Given the description of an element on the screen output the (x, y) to click on. 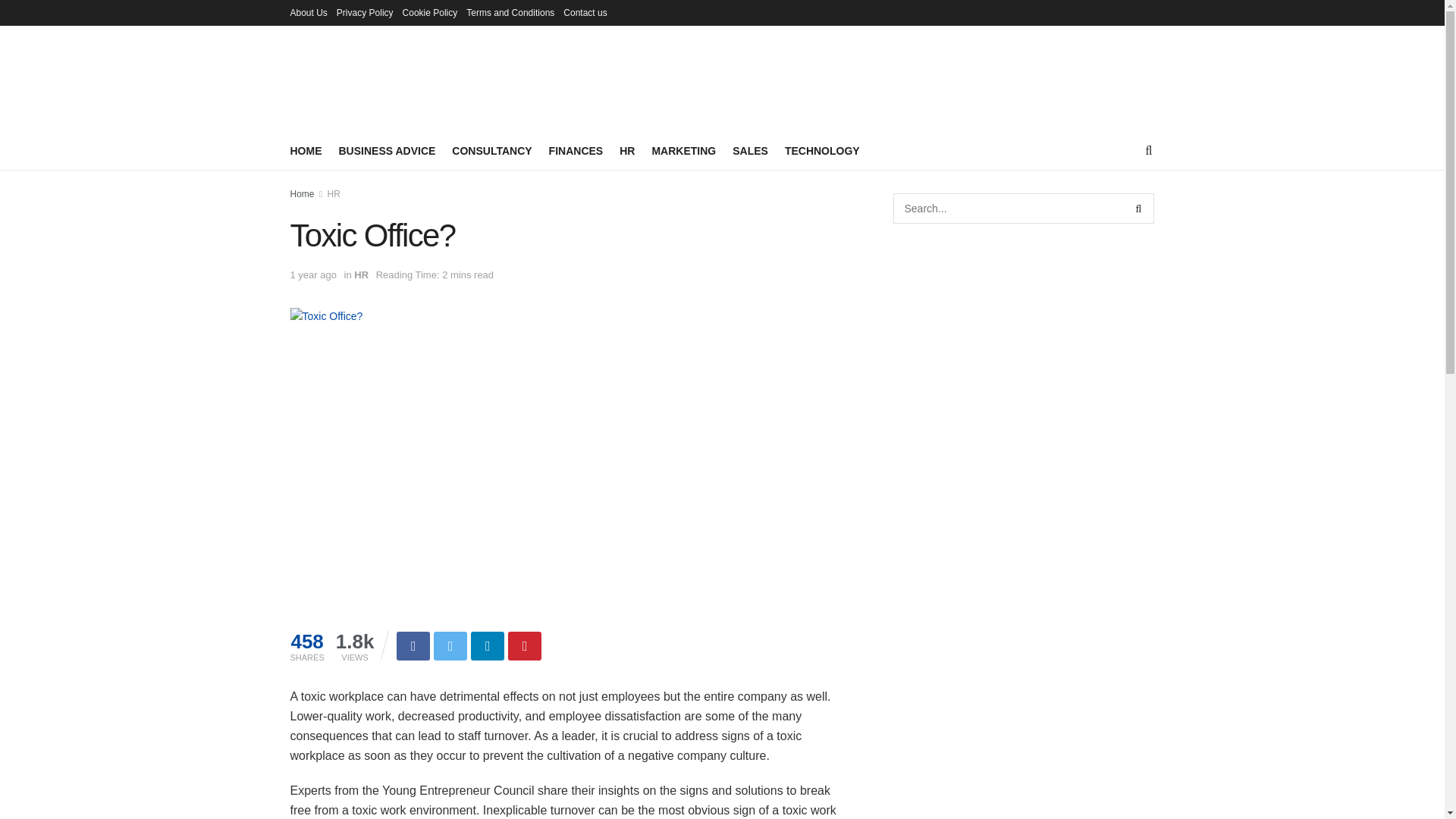
BUSINESS ADVICE (386, 150)
SALES (750, 150)
MARKETING (683, 150)
FINANCES (576, 150)
HR (333, 194)
Contact us (585, 12)
Cookie Policy (430, 12)
Terms and Conditions (509, 12)
Privacy Policy (364, 12)
About Us (307, 12)
hilarious 2362142 960 720 - Business Help and Advice (325, 315)
CONSULTANCY (491, 150)
1 year ago (312, 274)
HR (360, 274)
Home (301, 194)
